Given the description of an element on the screen output the (x, y) to click on. 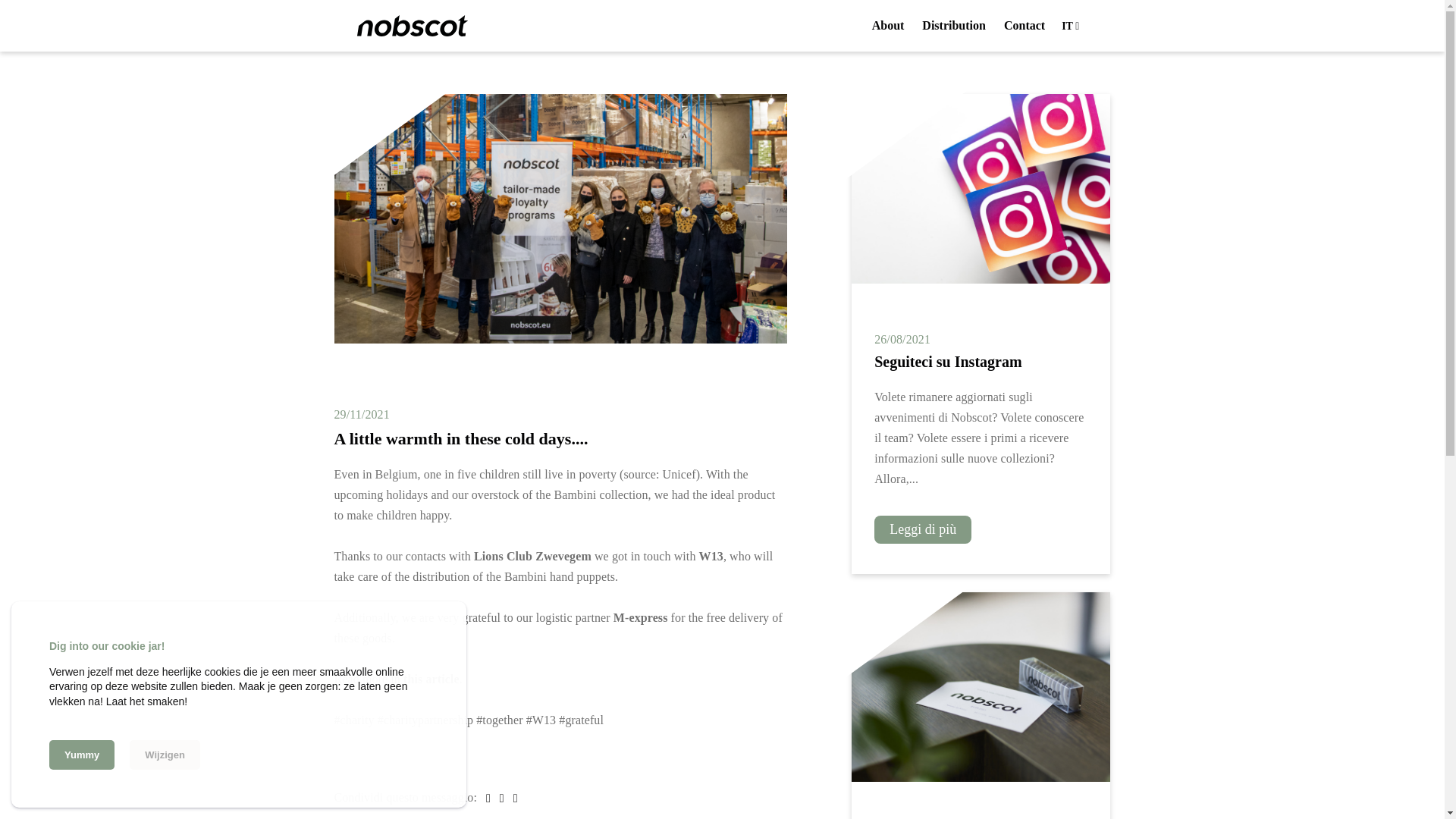
IT (1066, 26)
Contact (1024, 25)
Distribution (953, 25)
Wijzigen (164, 755)
Yummy (82, 755)
About (888, 25)
